Given the description of an element on the screen output the (x, y) to click on. 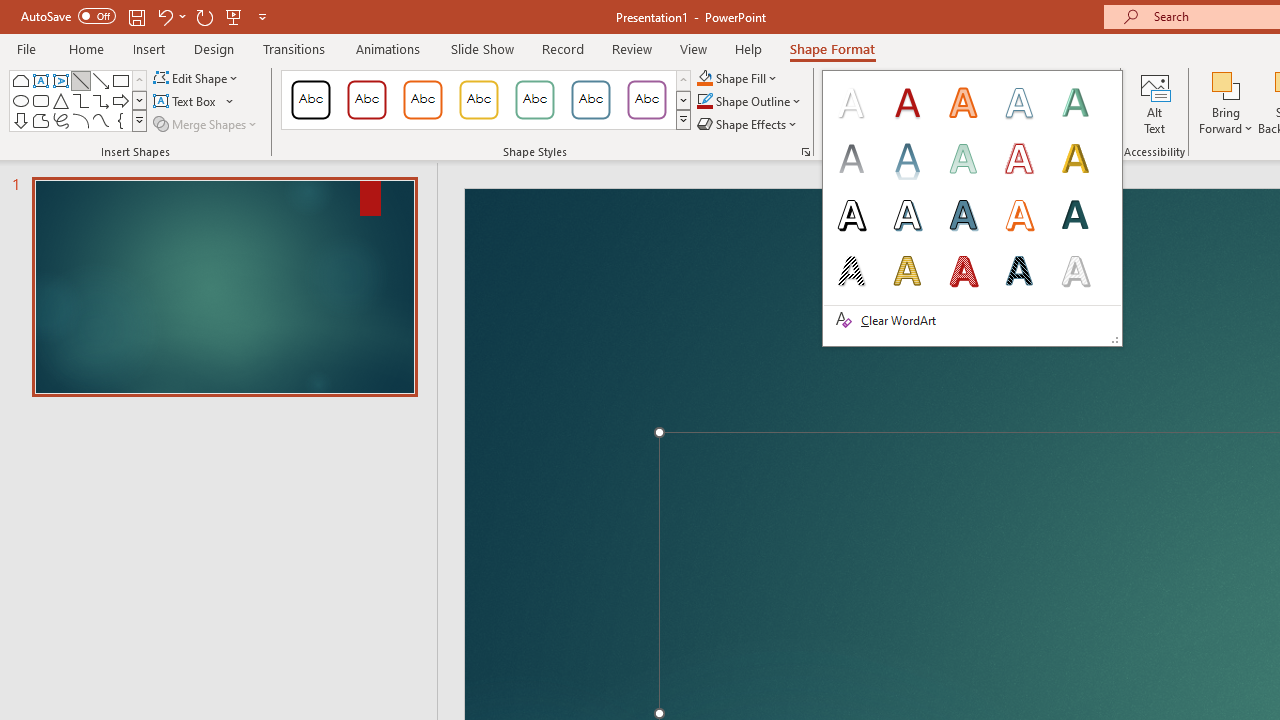
Colored Outline - Blue-Gray, Accent 5 (591, 100)
Colored Outline - Green, Accent 4 (534, 100)
Alt Text (1155, 102)
Rectangle: Top Corners Snipped (20, 80)
